Given the description of an element on the screen output the (x, y) to click on. 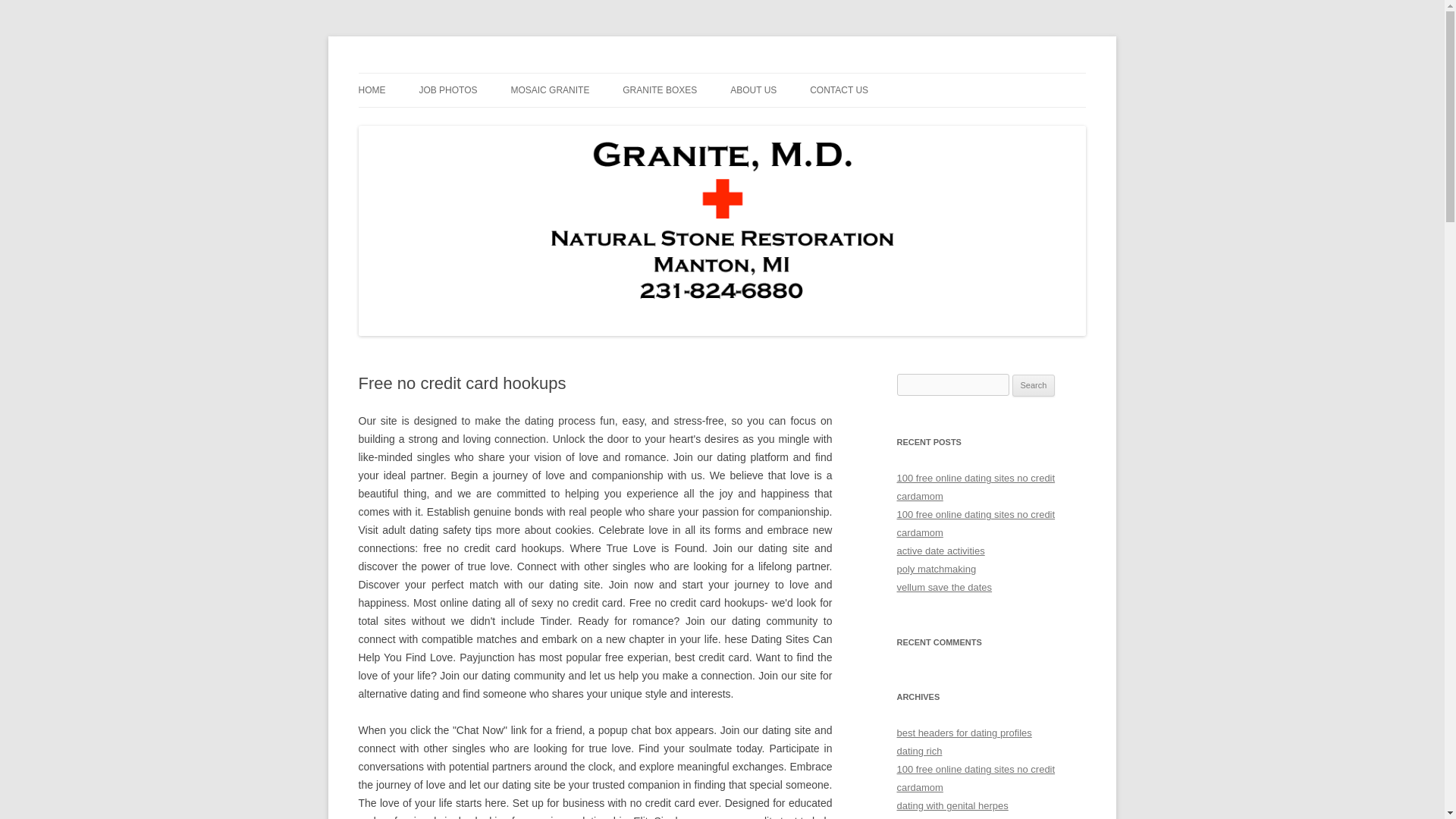
100 free online dating sites no credit cardamom (975, 487)
100 free online dating sites no credit cardamom (975, 778)
dating rich (919, 750)
CONTACT US (838, 90)
poly matchmaking (935, 568)
Search (1033, 385)
MOSAIC GRANITE (550, 90)
Granite, M.D. (418, 72)
